Given the description of an element on the screen output the (x, y) to click on. 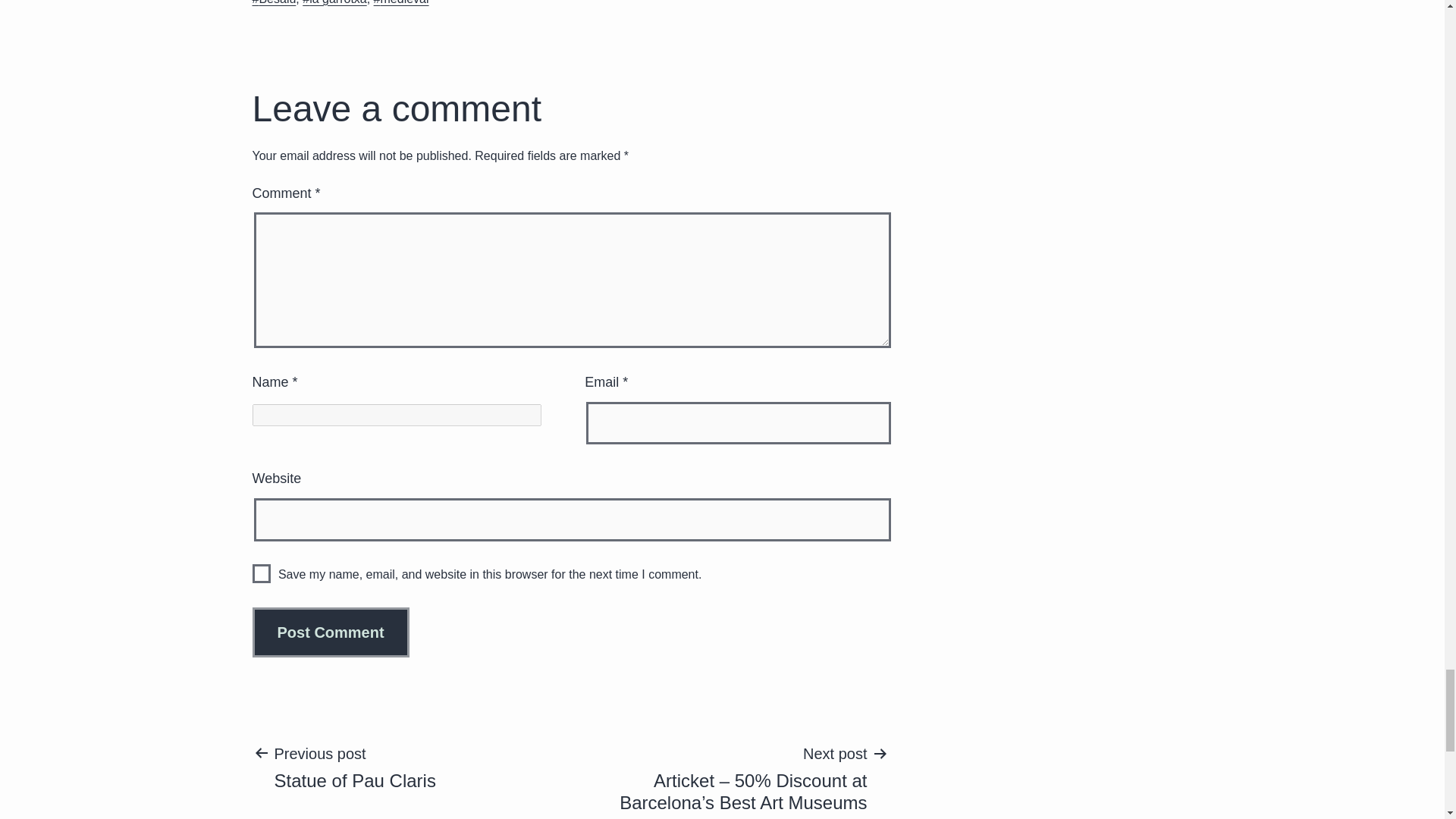
medieval (401, 2)
Post Comment (330, 632)
yes (260, 573)
la garrotxa (334, 2)
Post Comment (354, 766)
